Given the description of an element on the screen output the (x, y) to click on. 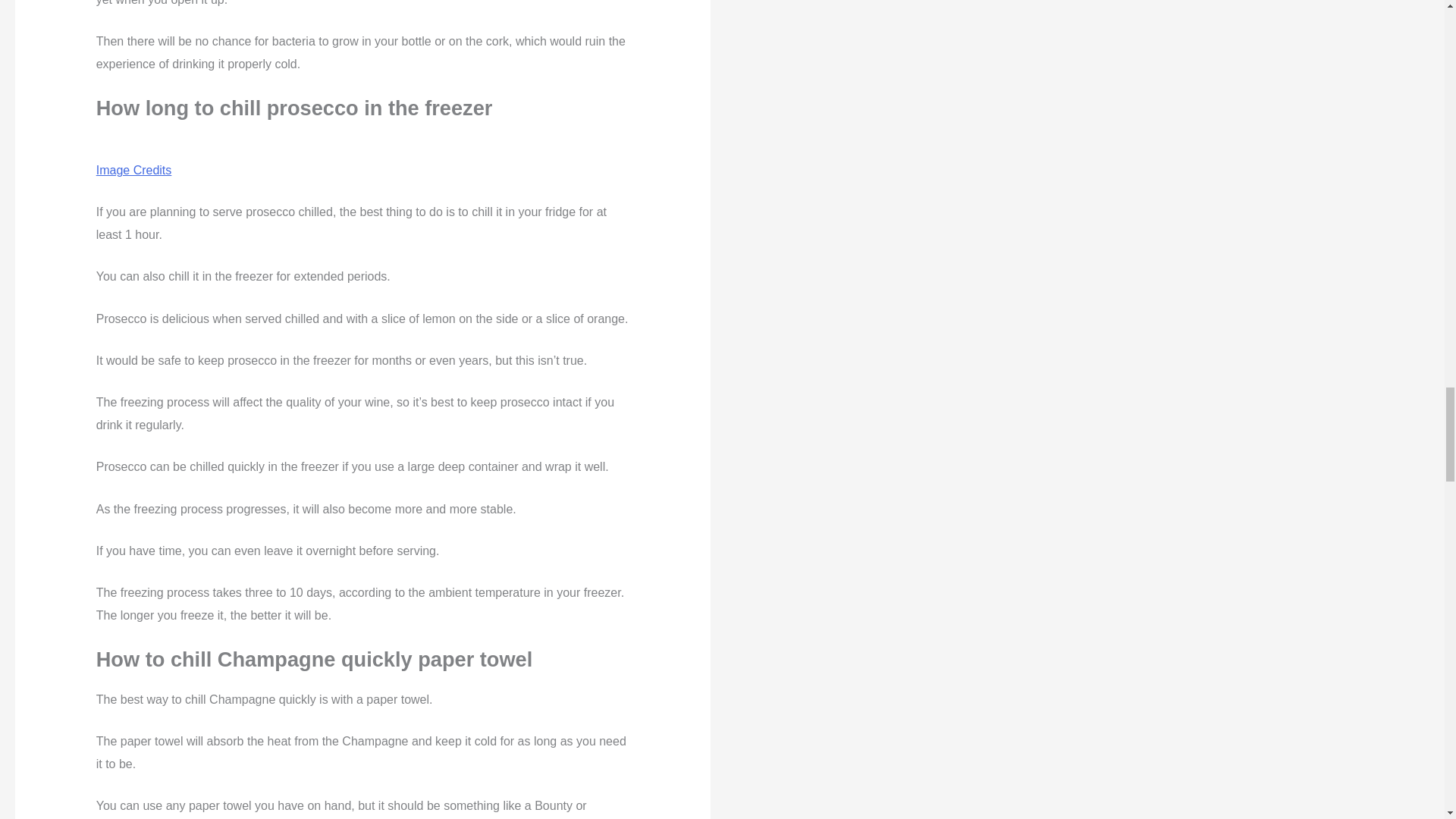
Image Credits (133, 169)
